Given the description of an element on the screen output the (x, y) to click on. 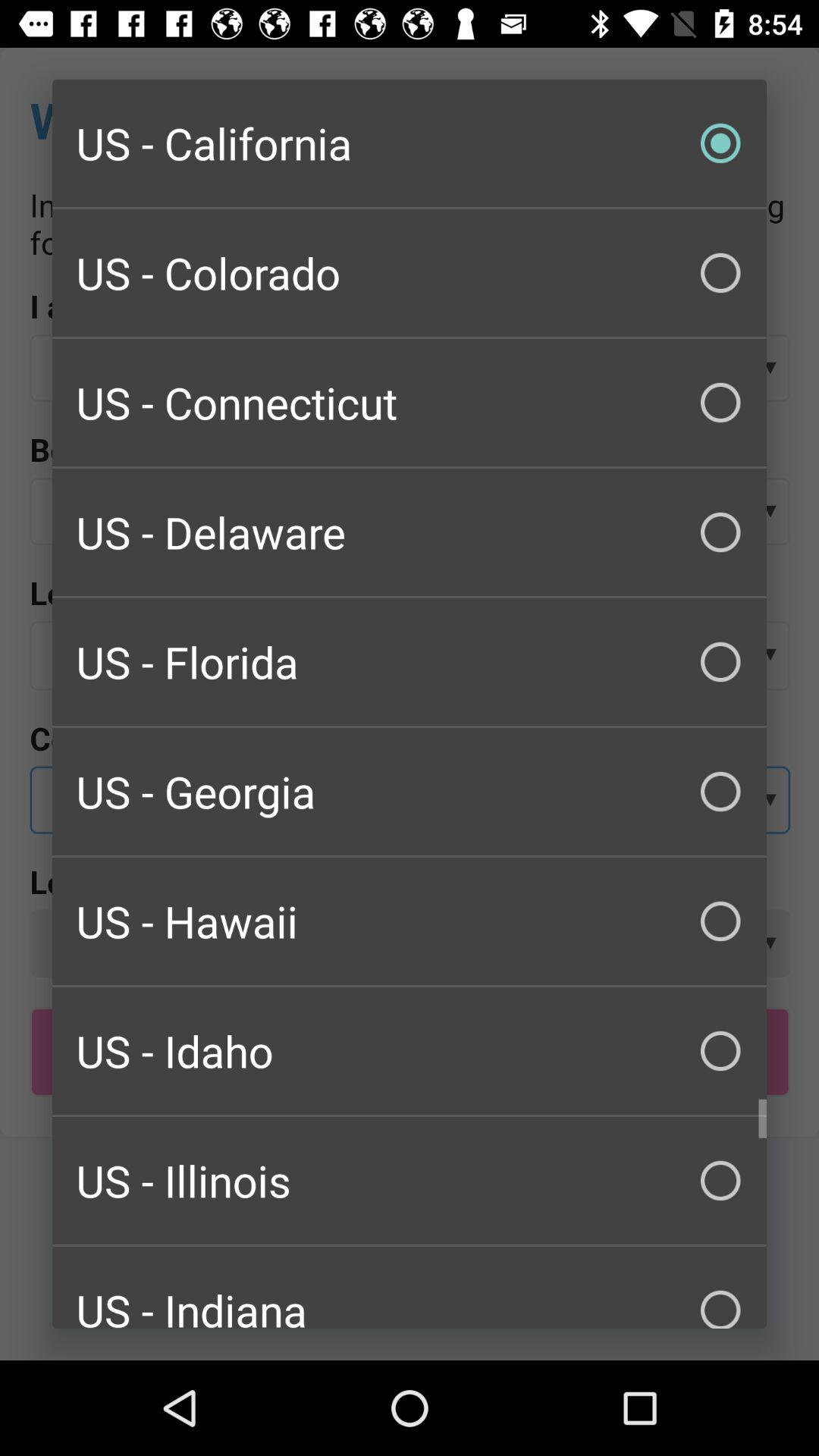
turn on us - hawaii checkbox (409, 921)
